Given the description of an element on the screen output the (x, y) to click on. 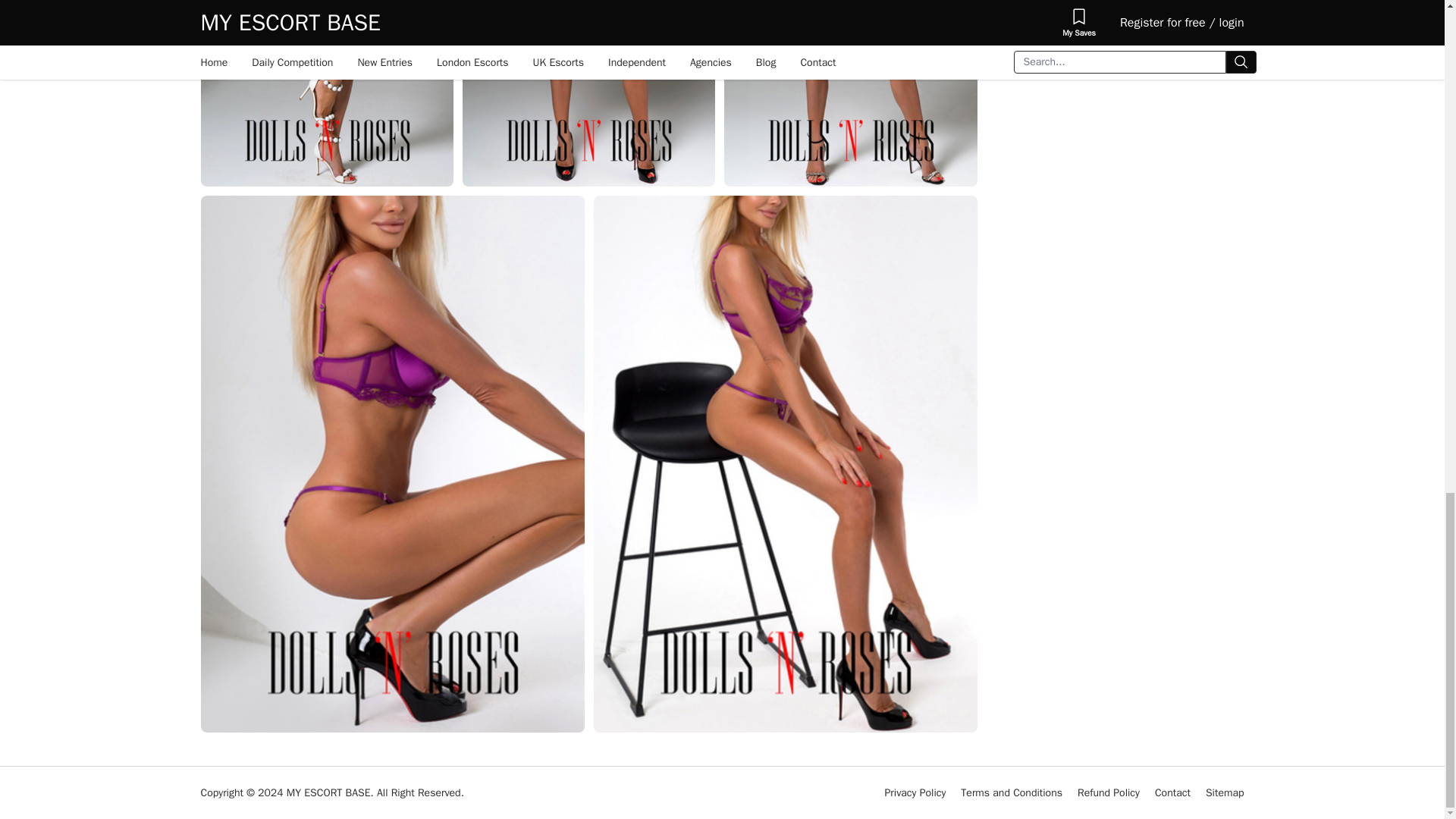
Sitemap (1224, 792)
Terms and Conditions (1011, 792)
Refund Policy (1108, 792)
Privacy Policy (915, 792)
Contact (1172, 792)
